Given the description of an element on the screen output the (x, y) to click on. 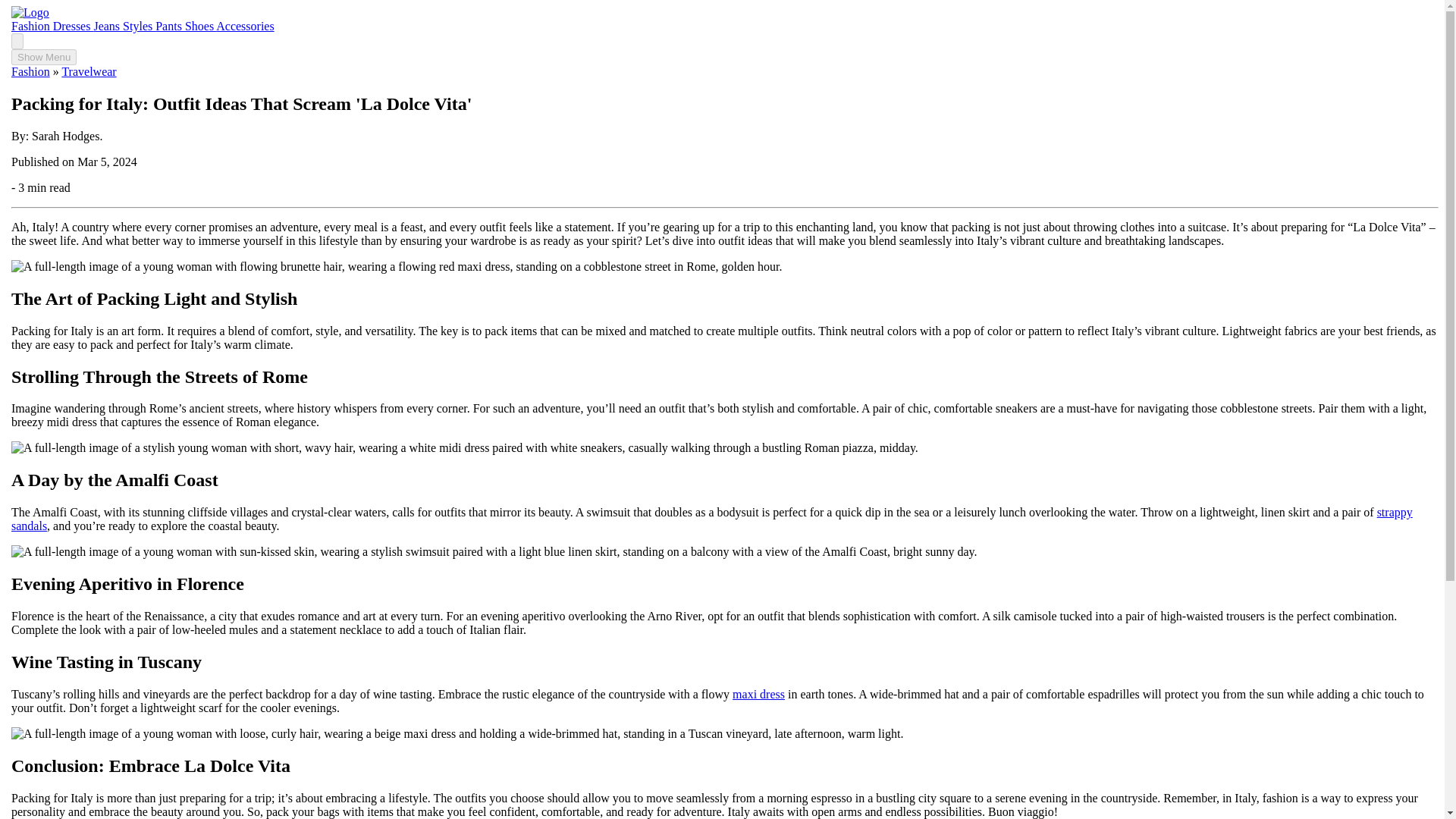
Pants (169, 25)
Jeans (107, 25)
maxi dress (758, 694)
Shoes (199, 25)
strappy sandals (711, 519)
Show Menu (44, 57)
Accessories (244, 25)
Fashion (31, 25)
Dresses (73, 25)
Travelwear (88, 71)
Fashion (30, 71)
Styles (138, 25)
